Given the description of an element on the screen output the (x, y) to click on. 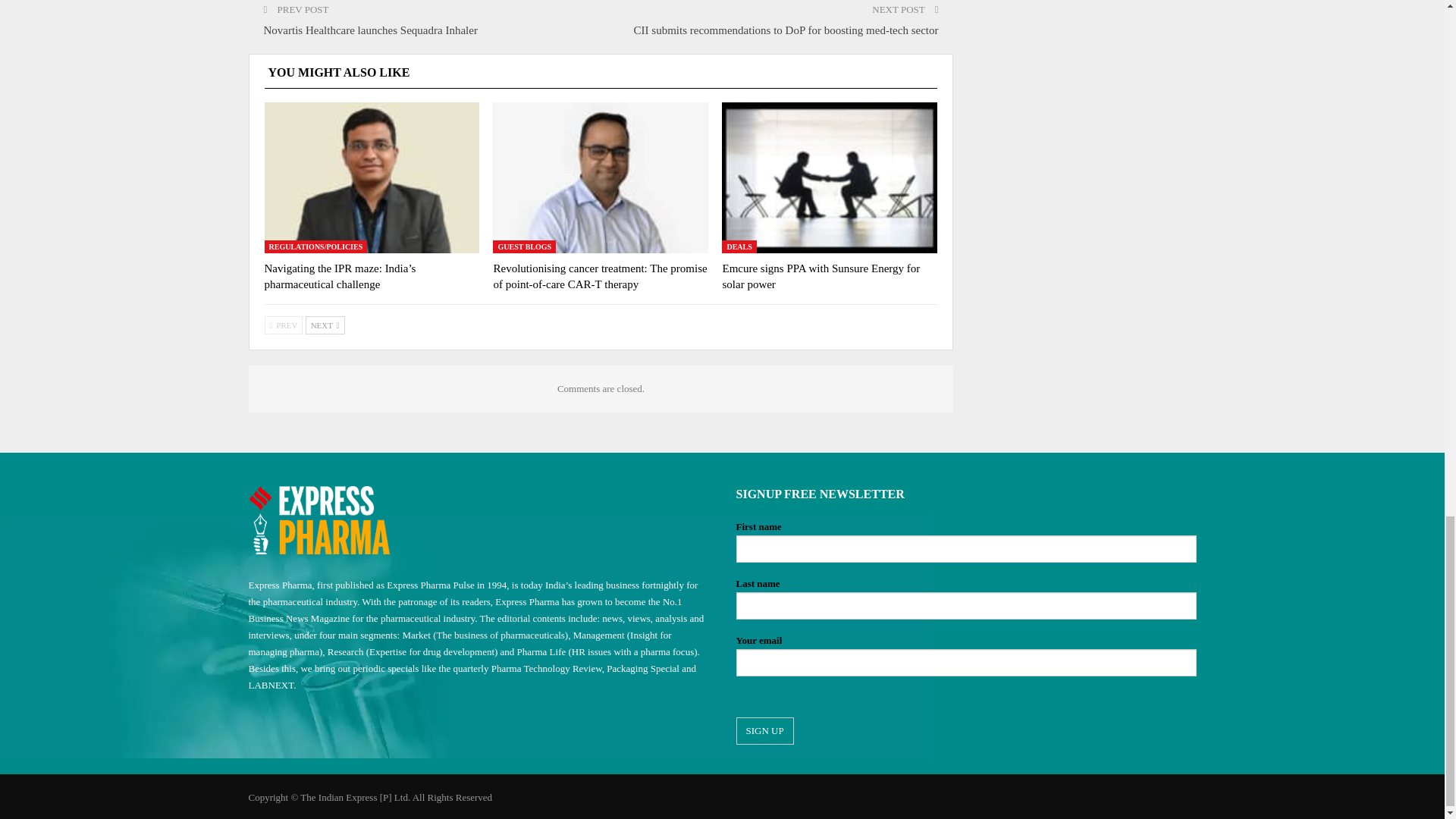
Emcure signs PPA with Sunsure Energy for solar power (821, 276)
Previous (282, 325)
Next (325, 325)
Sign Up (764, 730)
Emcure signs PPA with Sunsure Energy for solar power (829, 177)
